Given the description of an element on the screen output the (x, y) to click on. 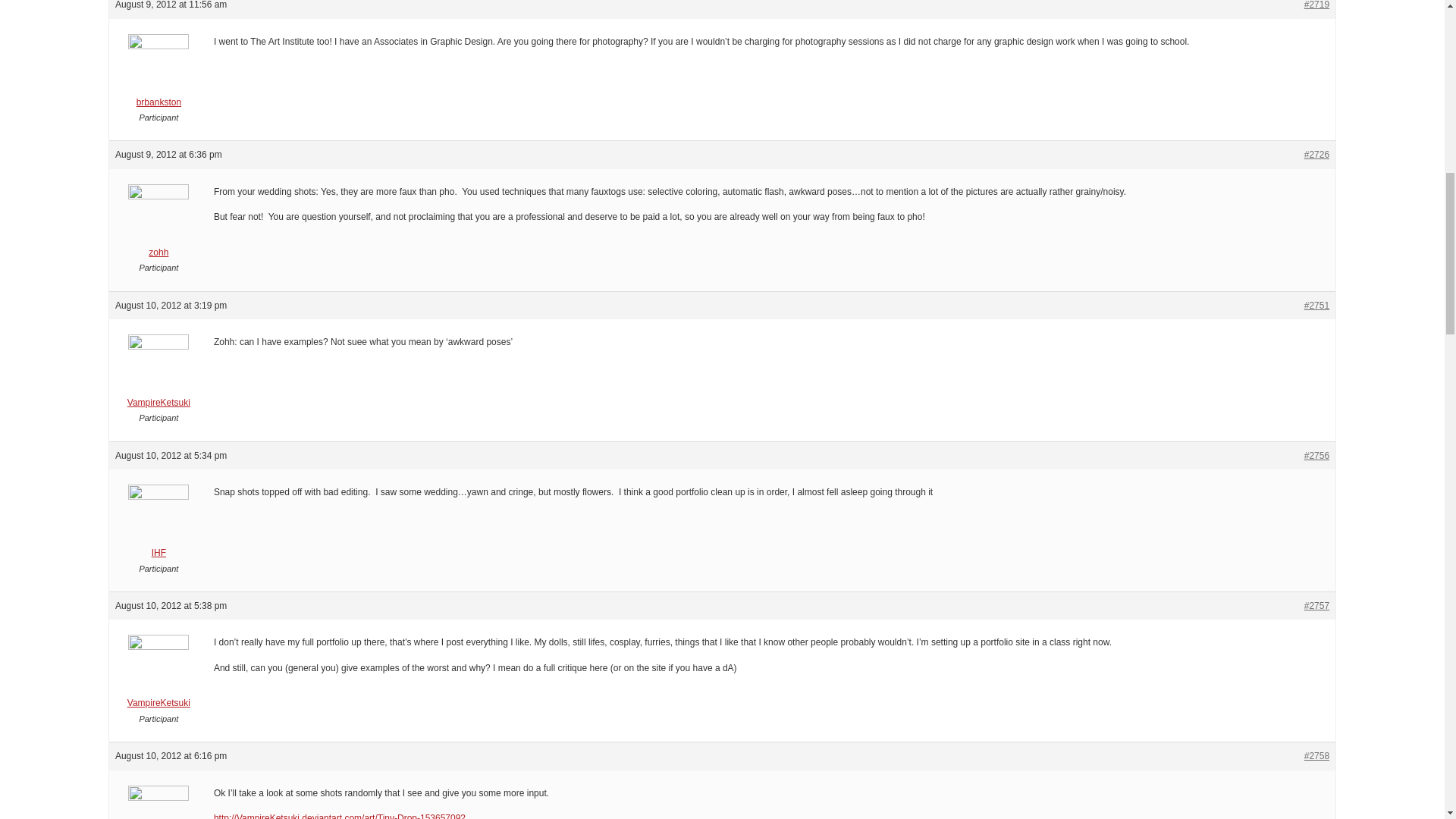
View zohh's profile (158, 225)
brbankston (158, 74)
View VampireKetsuki's profile (158, 675)
View VampireKetsuki's profile (158, 375)
IHF (158, 525)
VampireKetsuki (158, 675)
View brbankston's profile (158, 74)
IHF (158, 805)
View IHF's profile (158, 805)
View IHF's profile (158, 525)
